Given the description of an element on the screen output the (x, y) to click on. 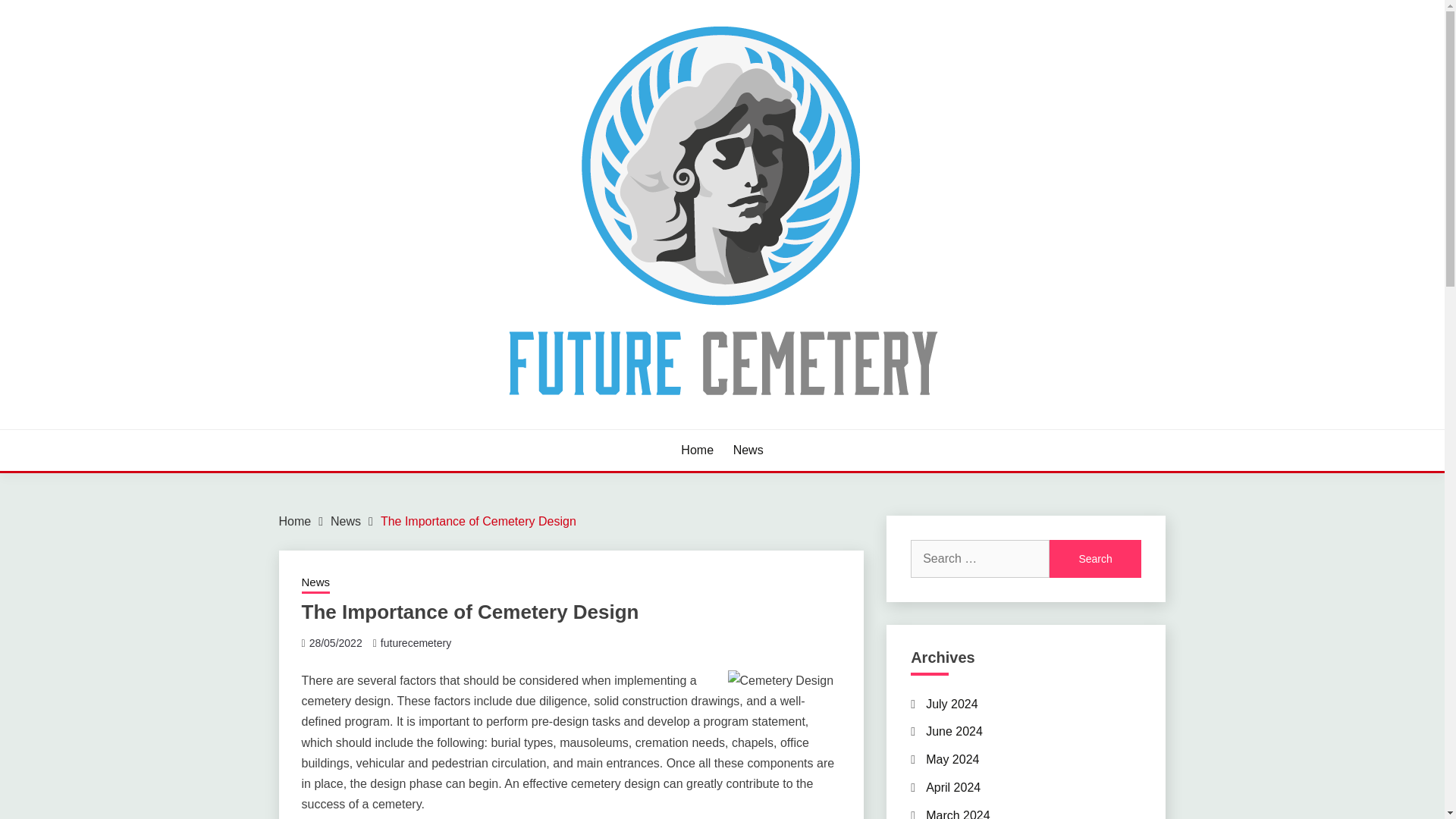
April 2024 (952, 787)
Home (697, 450)
News (345, 521)
News (315, 583)
May 2024 (952, 758)
Search (1095, 558)
March 2024 (958, 814)
Search (1095, 558)
The Importance of Cemetery Design (478, 521)
Home (295, 521)
futurecemetery (415, 643)
July 2024 (952, 703)
FUTURE CEMETERY (416, 427)
June 2024 (954, 730)
Search (1095, 558)
